Given the description of an element on the screen output the (x, y) to click on. 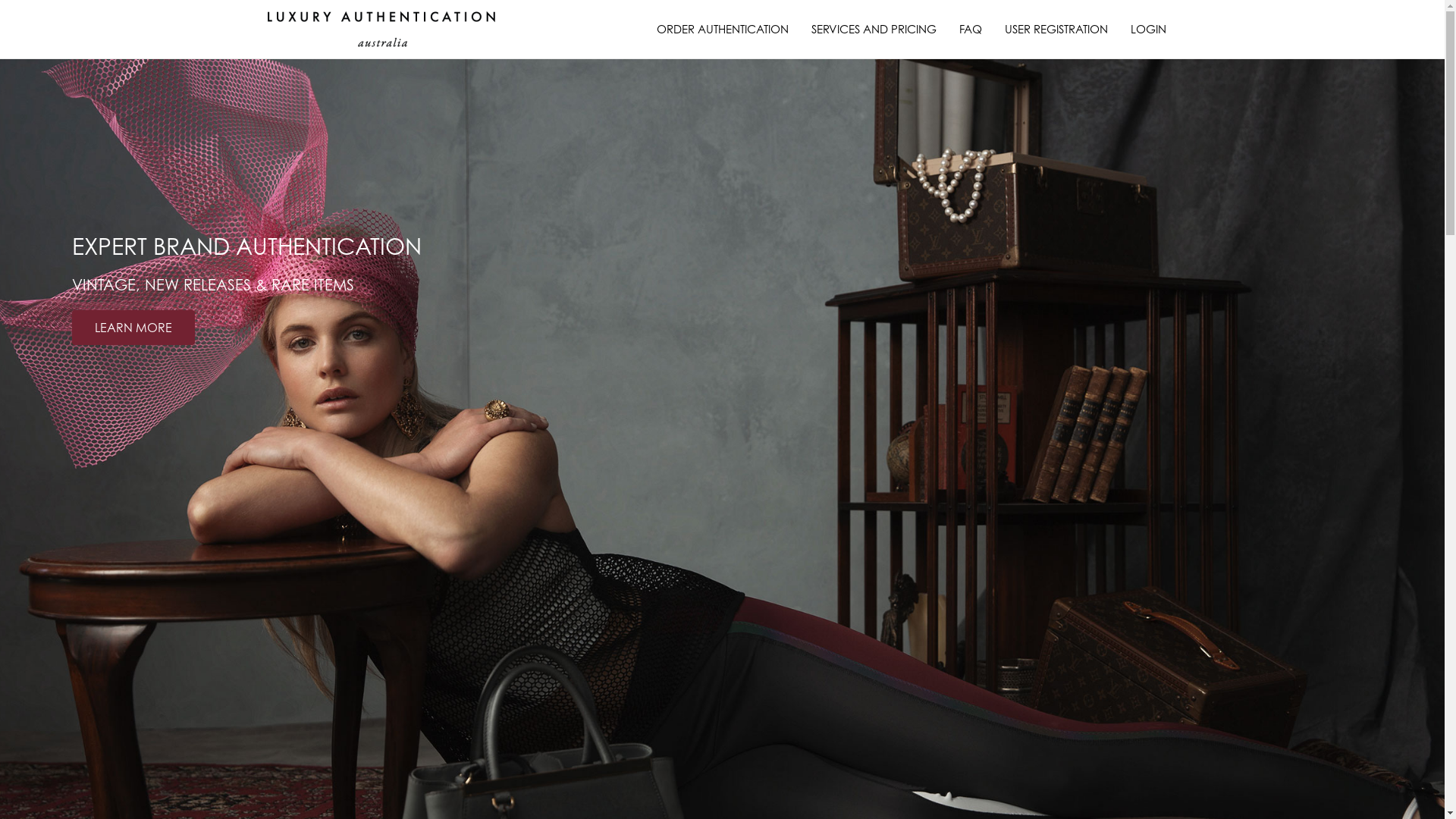
ORDER AUTHENTICATION Element type: text (721, 28)
LEARN MORE Element type: text (133, 327)
USER REGISTRATION Element type: text (1056, 28)
SERVICES AND PRICING Element type: text (873, 28)
LOGIN Element type: text (1148, 28)
FAQ Element type: text (970, 28)
